Given the description of an element on the screen output the (x, y) to click on. 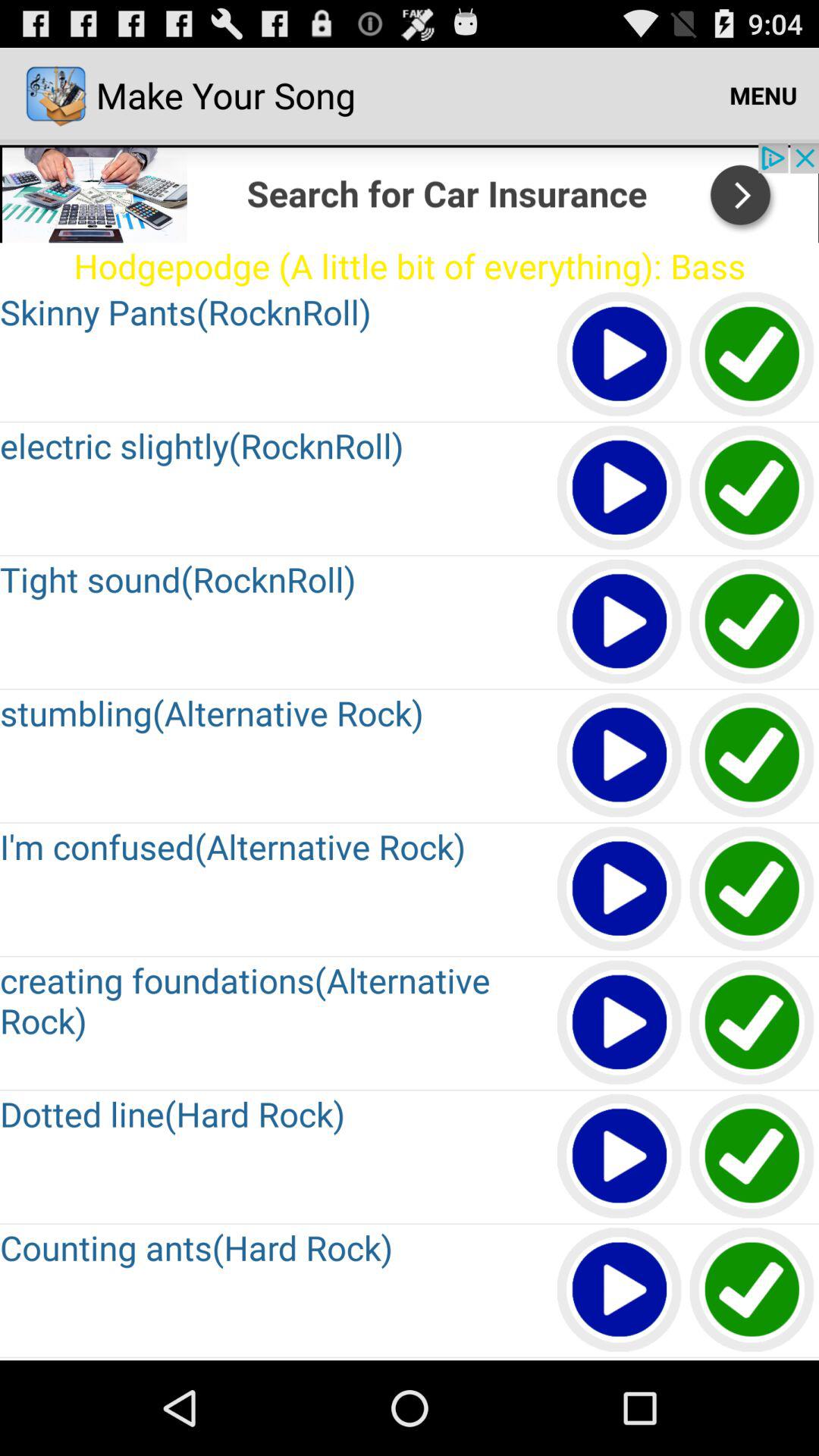
click on play button (619, 354)
